Given the description of an element on the screen output the (x, y) to click on. 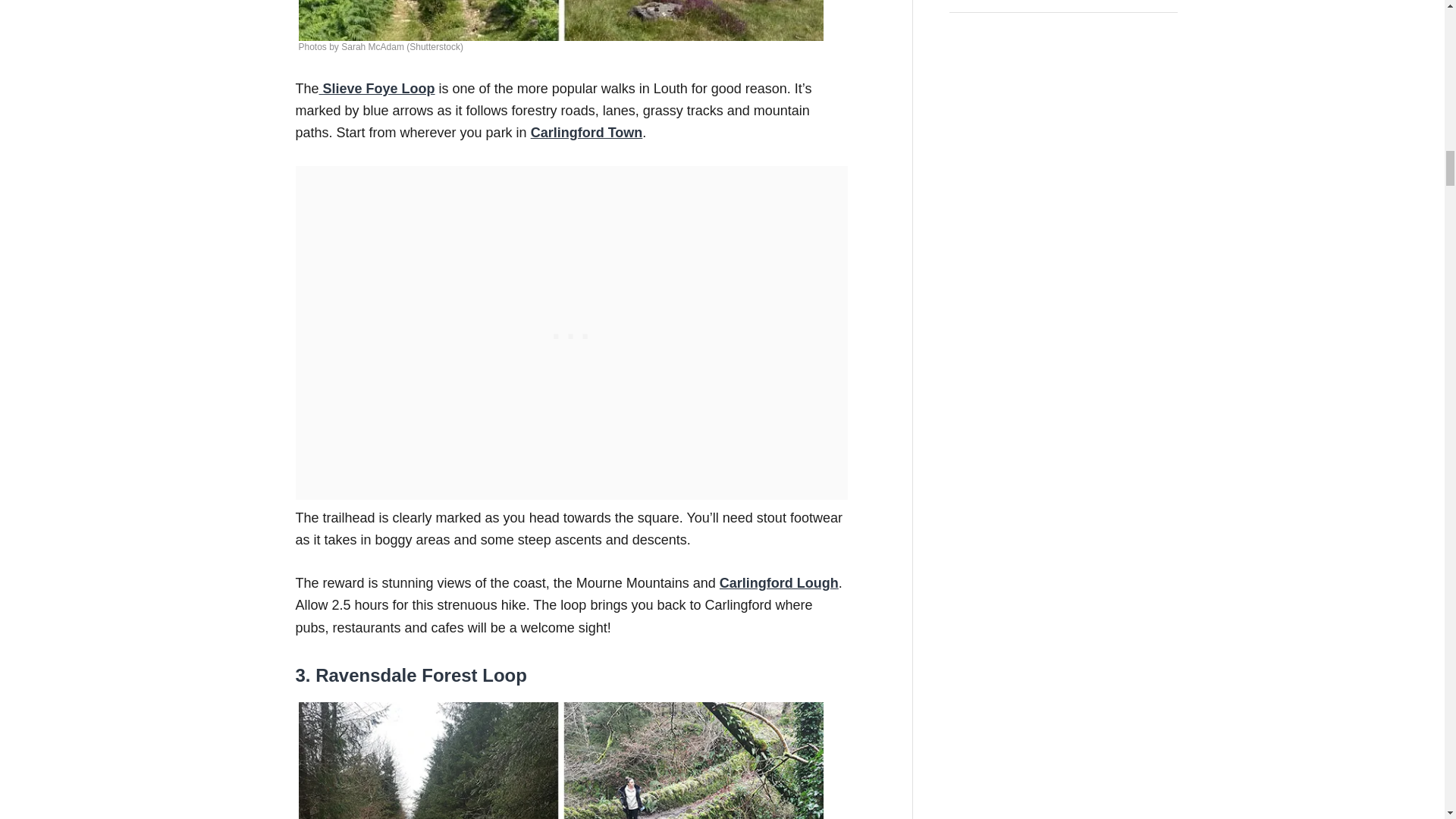
Slieve Foye Loop (376, 88)
Carlingford Lough (778, 582)
Carlingford Town (587, 132)
